Given the description of an element on the screen output the (x, y) to click on. 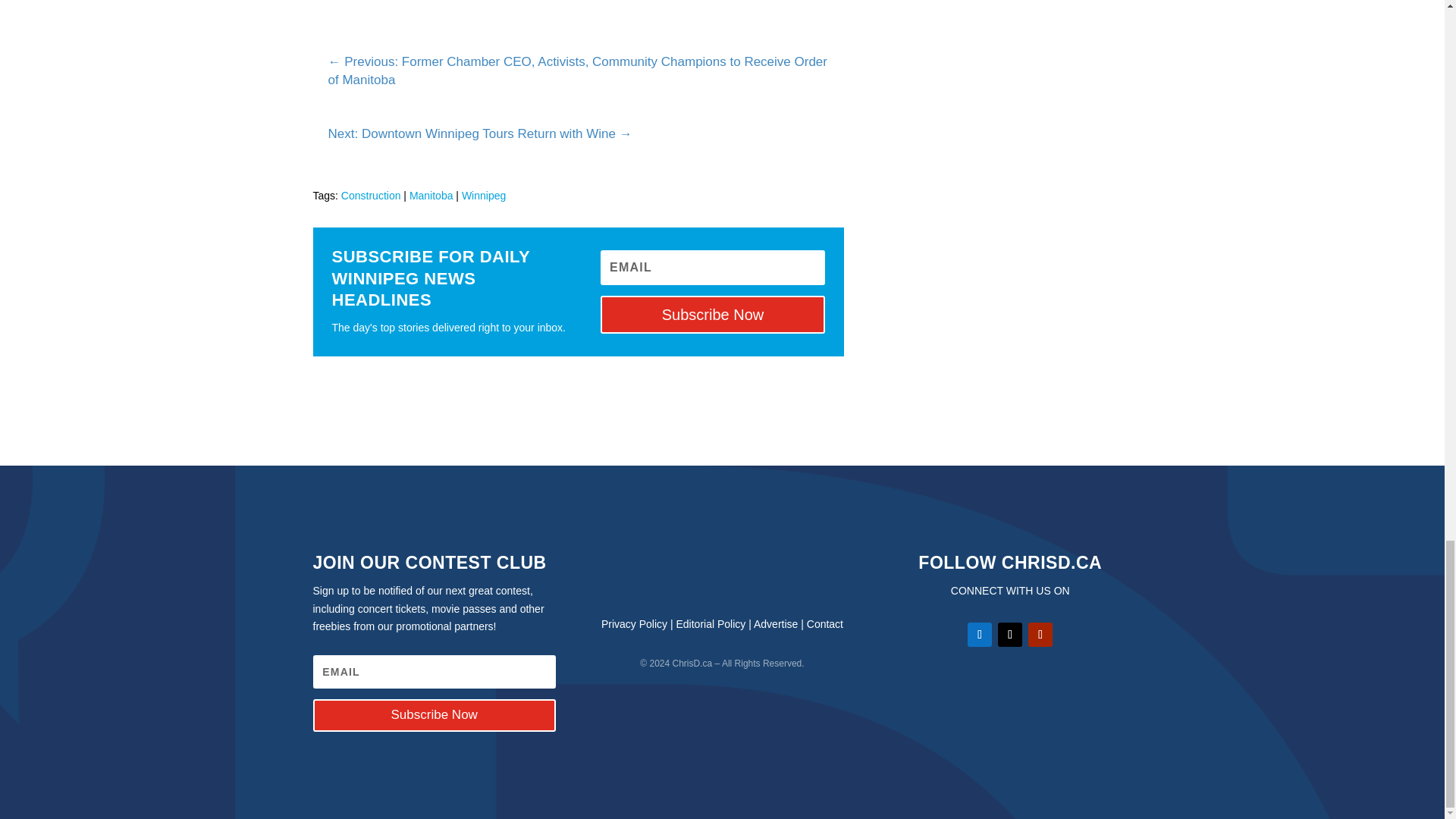
chrisd-logo-footer-300x92 (722, 572)
